Given the description of an element on the screen output the (x, y) to click on. 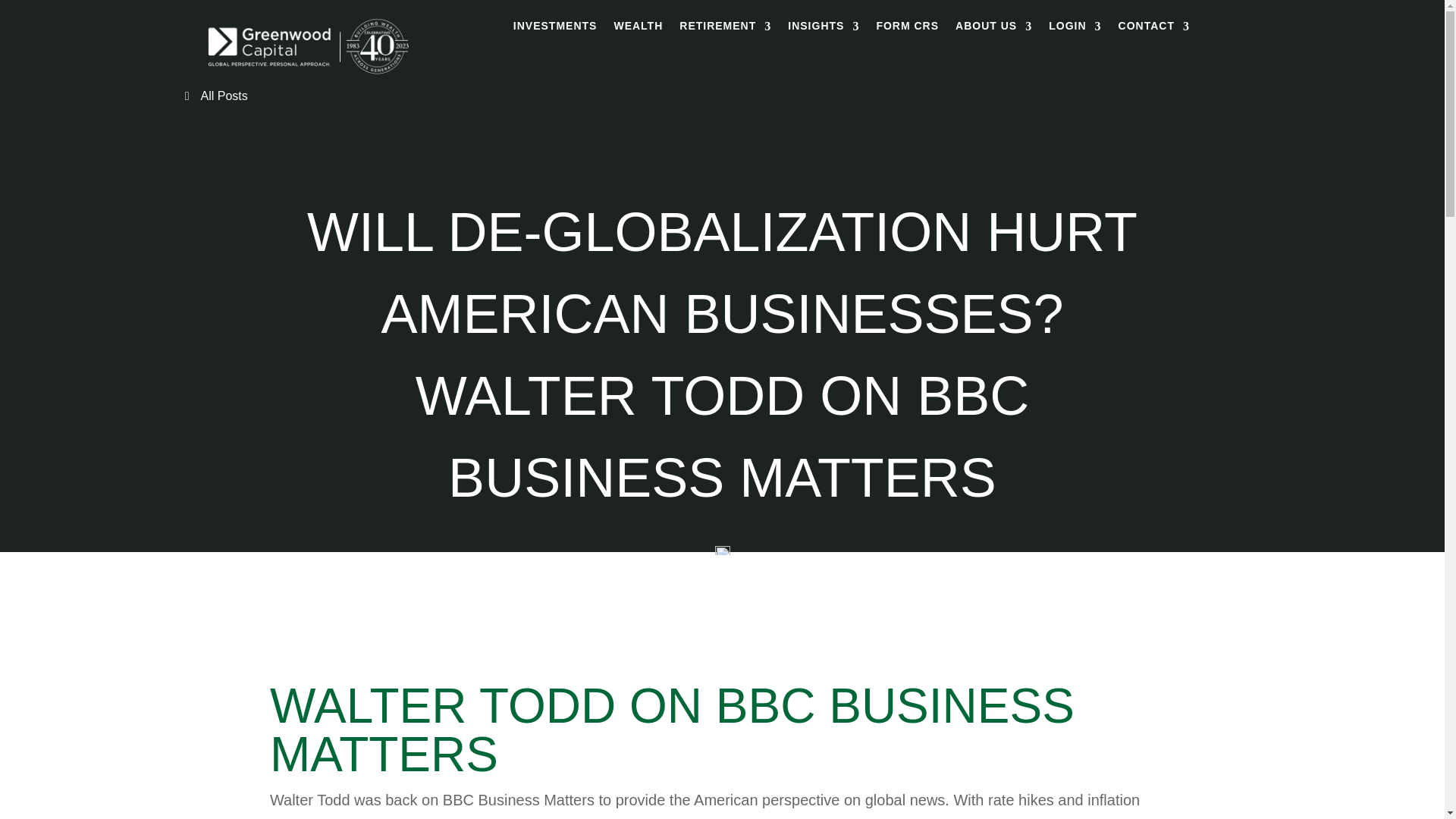
gwc-40-logo-white-hc (308, 75)
114 Business Matters Website (721, 557)
WEALTH (637, 29)
INVESTMENTS (554, 29)
